Given the description of an element on the screen output the (x, y) to click on. 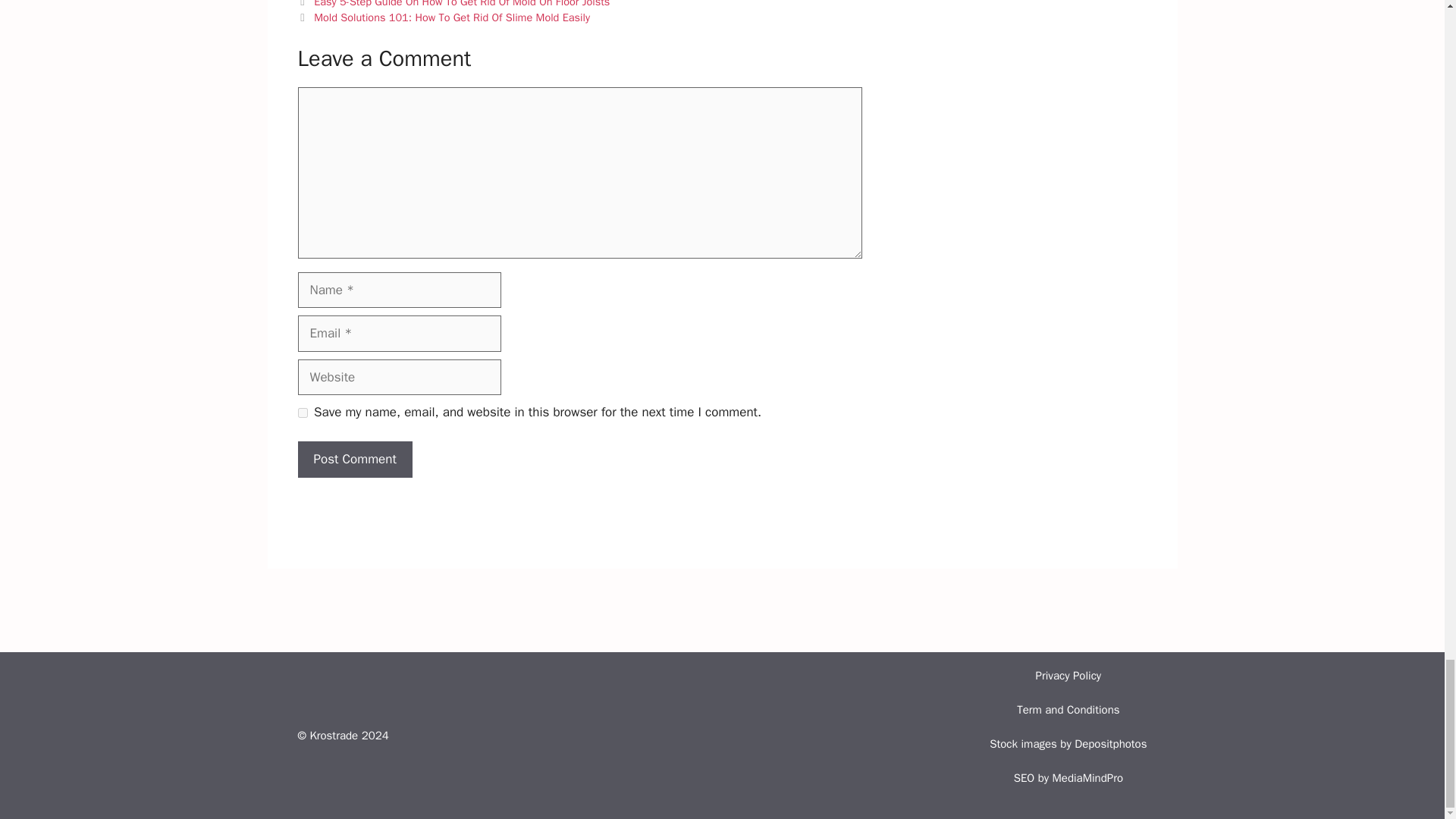
Post Comment (354, 459)
yes (302, 412)
